Given the description of an element on the screen output the (x, y) to click on. 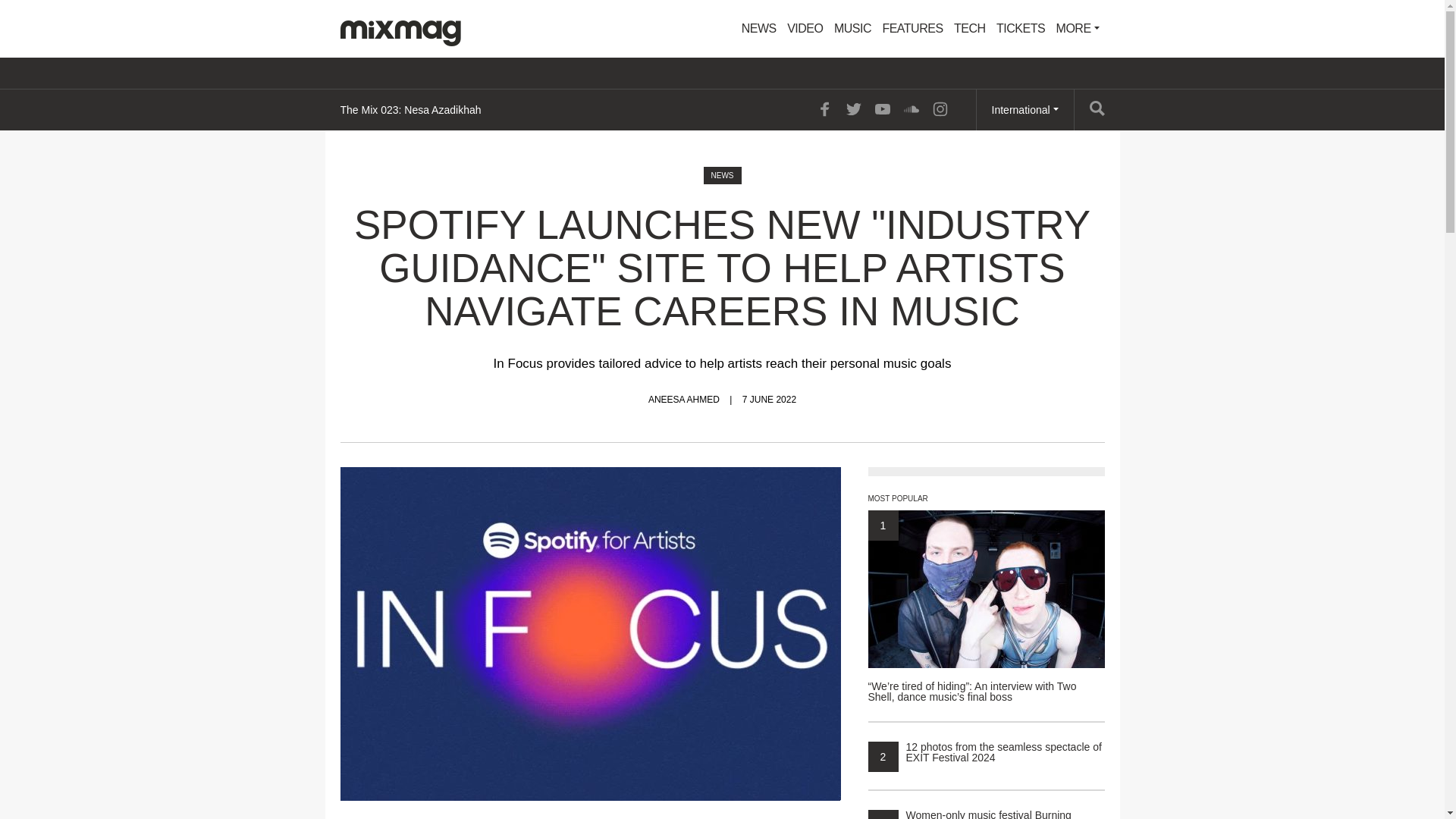
TICKETS (1020, 28)
NEWS (758, 28)
FEATURES (911, 28)
MORE (1078, 28)
MUSIC (852, 28)
TECH (970, 28)
The Mix 023: Nesa Azadikhah (409, 109)
VIDEO (804, 28)
